Given the description of an element on the screen output the (x, y) to click on. 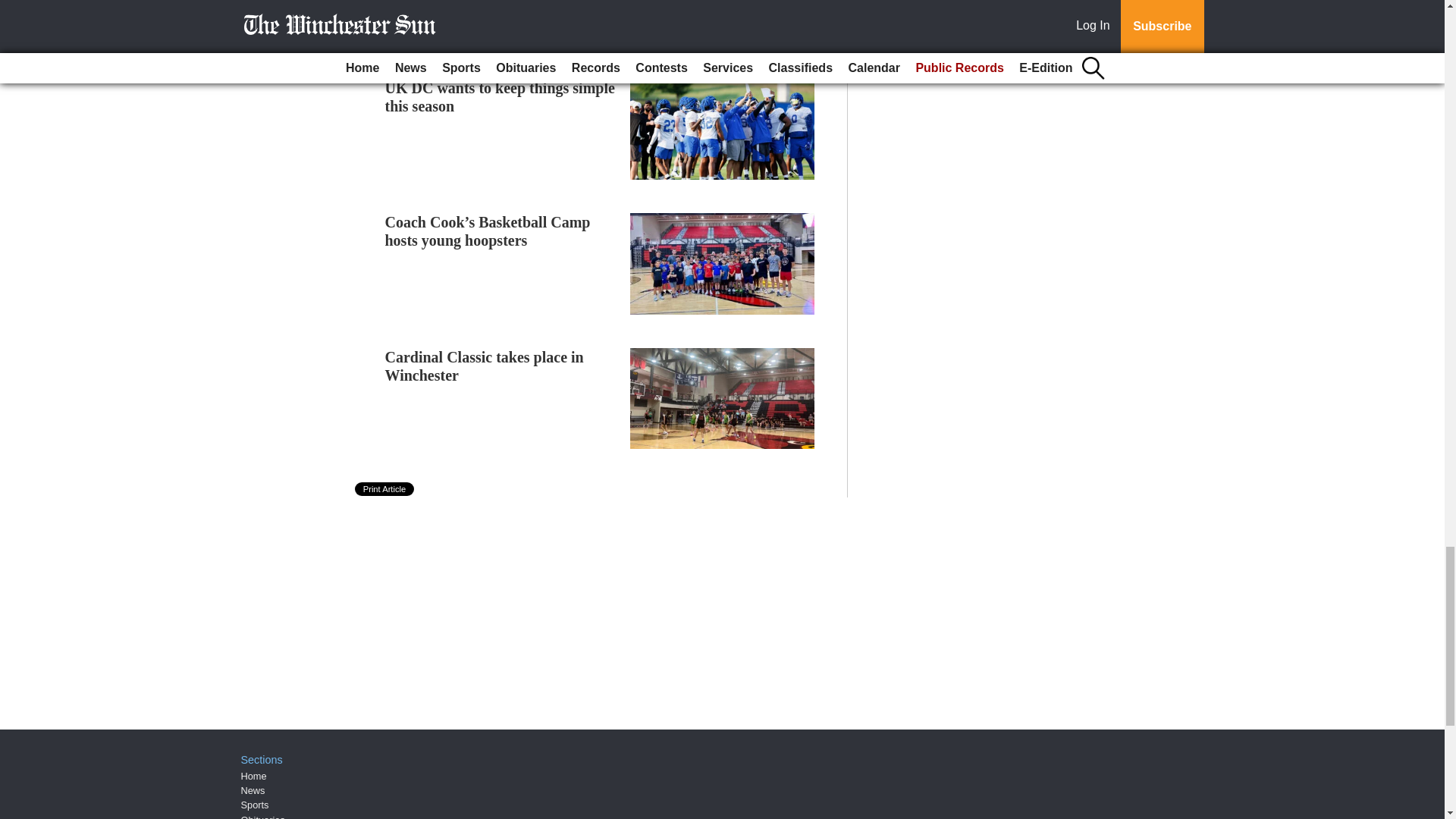
Cardinal Classic takes place in Winchester (484, 366)
UK DC wants to keep things simple this season (499, 96)
Print Article (384, 489)
Sports (255, 804)
News (252, 790)
Home (253, 776)
UK DC wants to keep things simple this season (499, 96)
Cardinal Classic takes place in Winchester (484, 366)
